Given the description of an element on the screen output the (x, y) to click on. 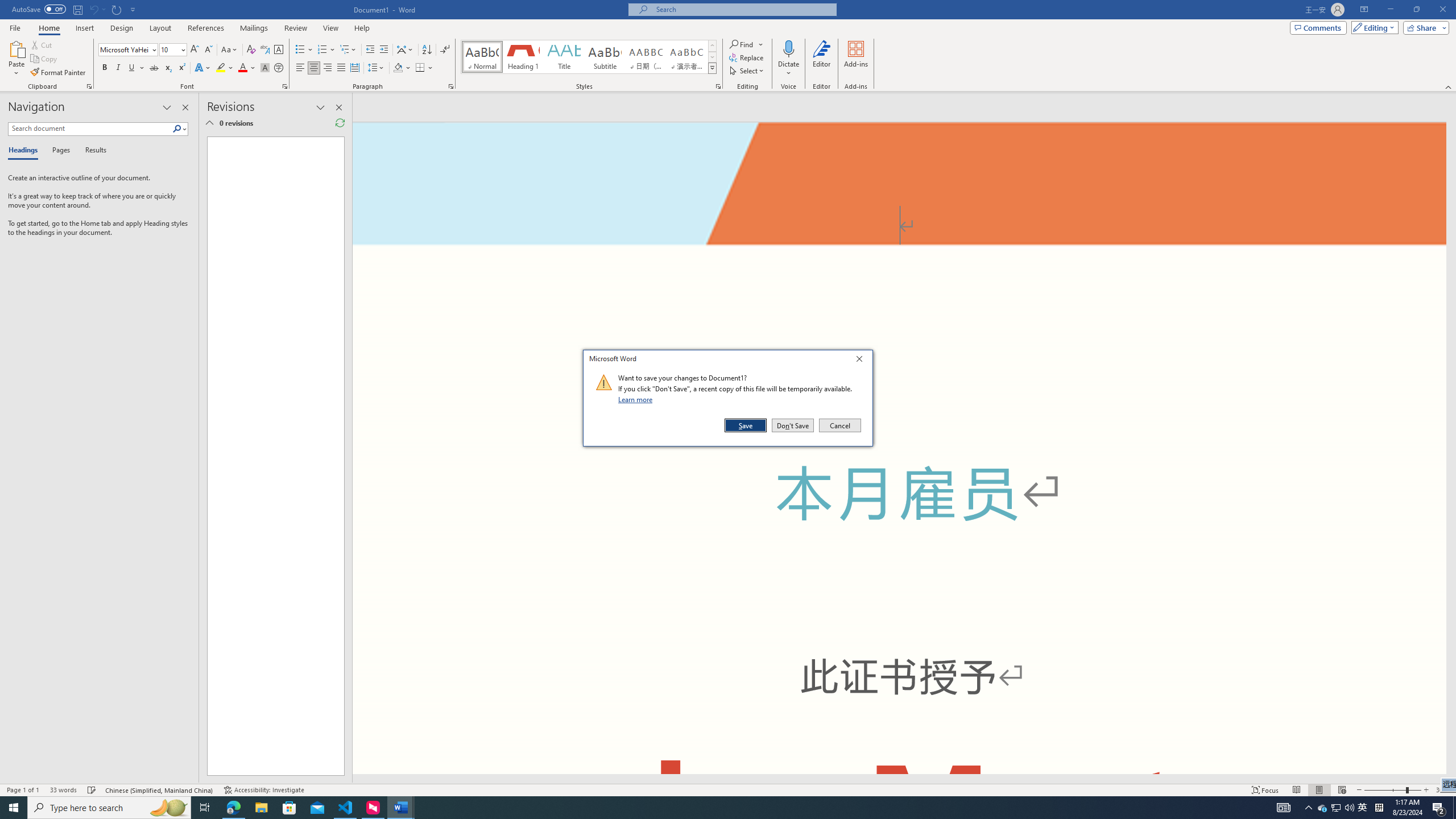
Font Color Red (241, 67)
